Given the description of an element on the screen output the (x, y) to click on. 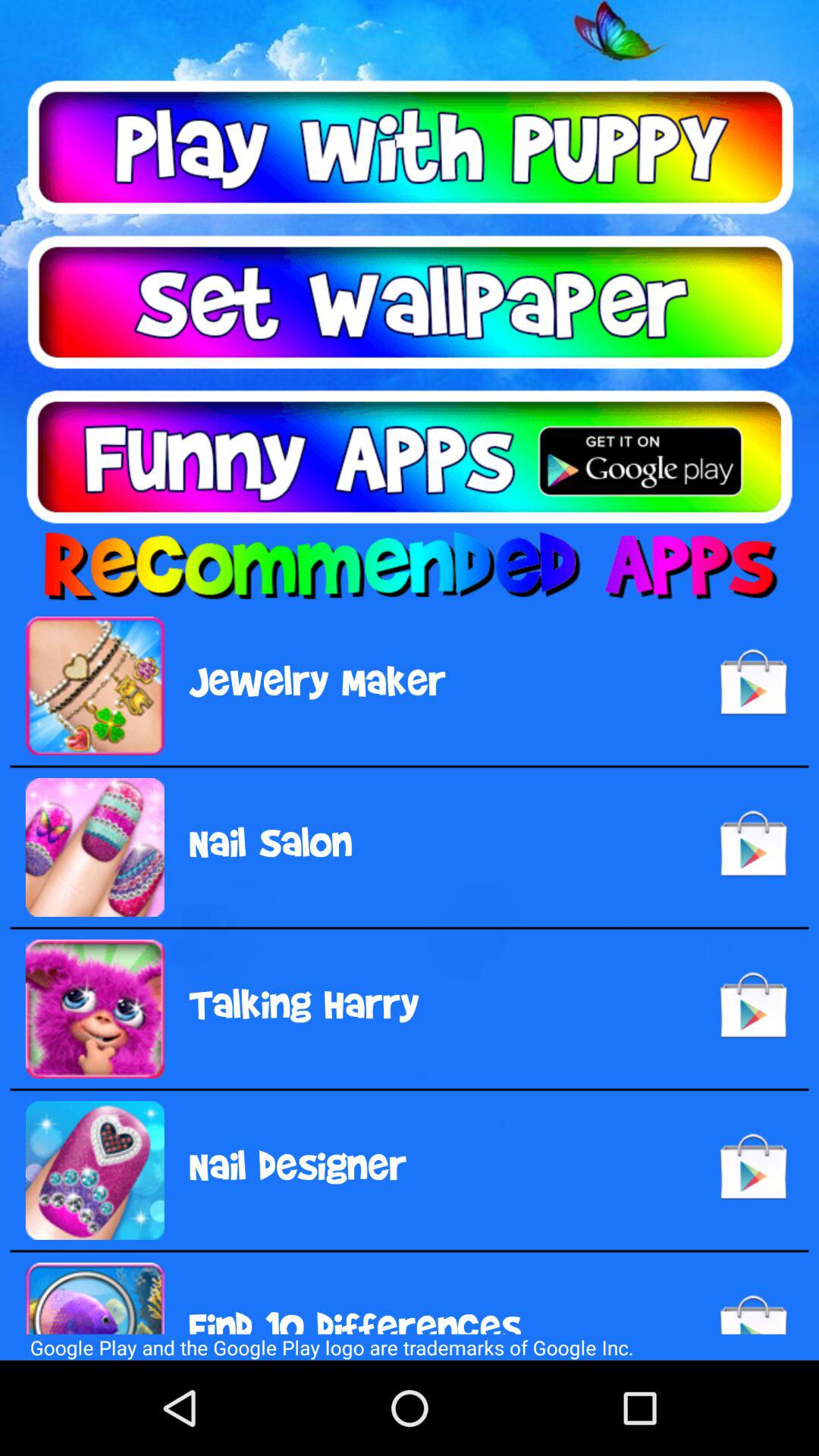
download an app from googleplay (409, 456)
